Given the description of an element on the screen output the (x, y) to click on. 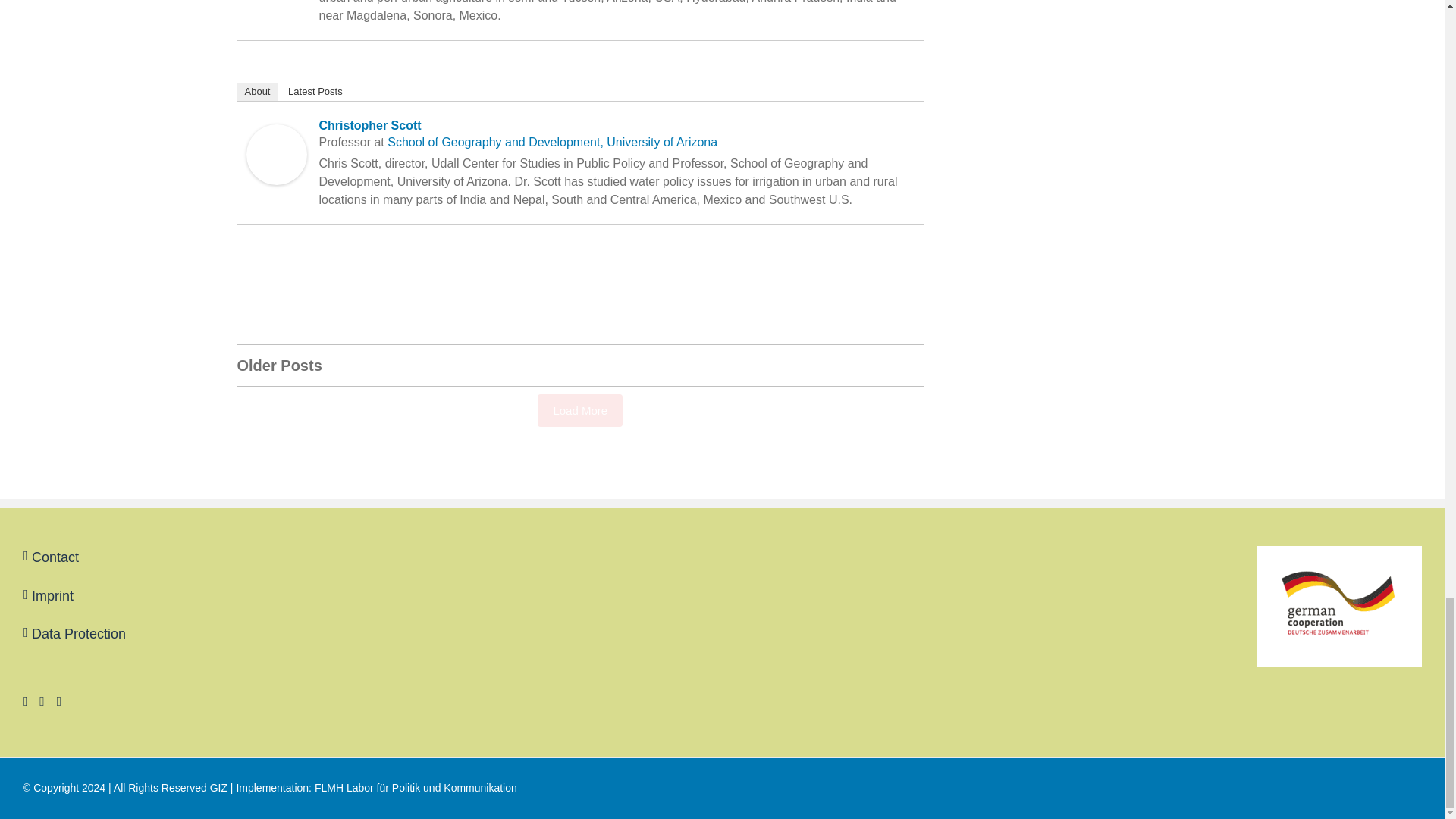
Christopher Scott (275, 134)
